Given the description of an element on the screen output the (x, y) to click on. 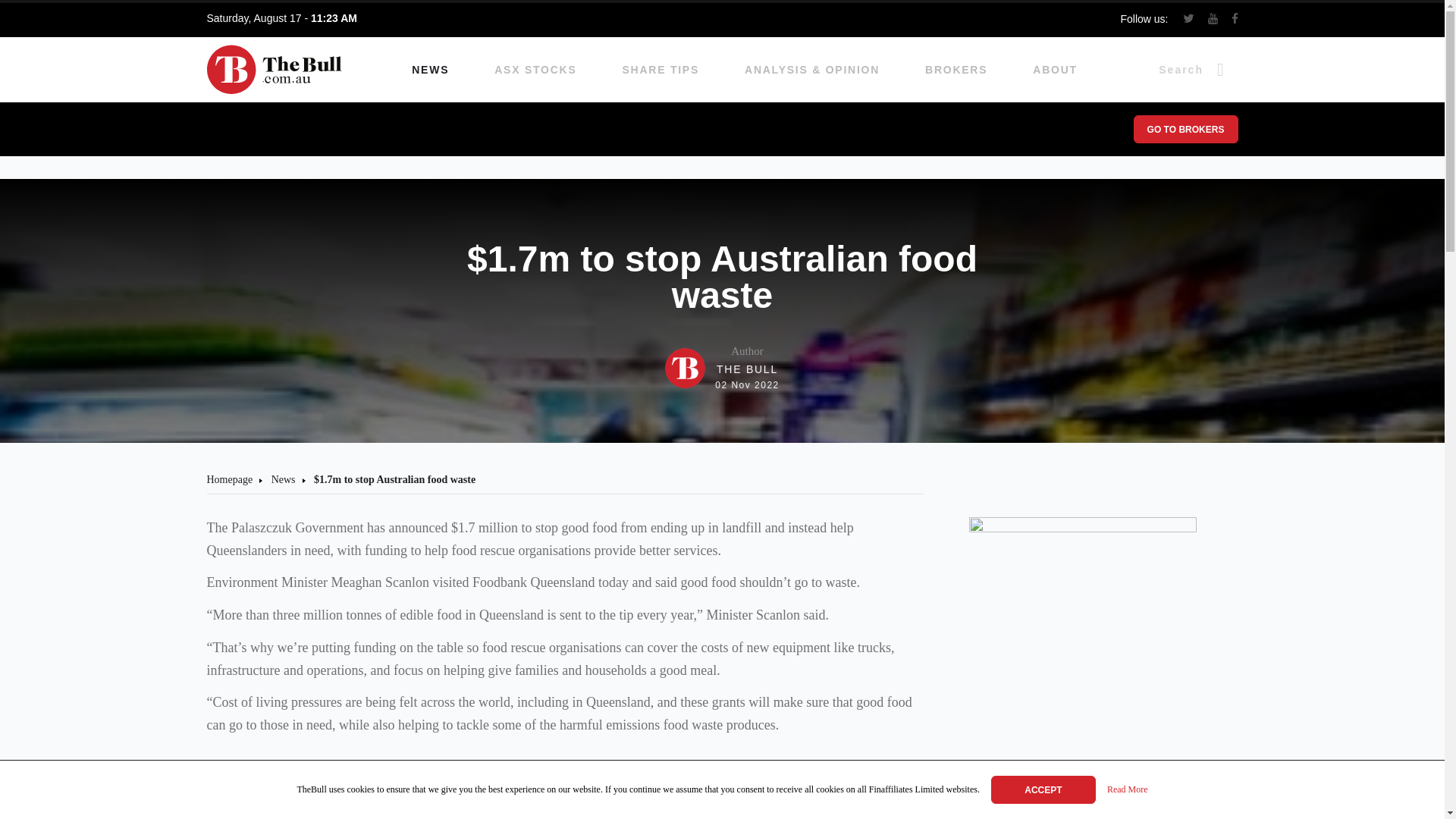
GO TO BROKERS (1184, 129)
Read More (1127, 789)
NEWS (430, 69)
News (282, 479)
SHARE TIPS (661, 69)
Homepage (228, 479)
ABOUT (1054, 69)
ACCEPT (1043, 789)
BROKERS (721, 367)
